Given the description of an element on the screen output the (x, y) to click on. 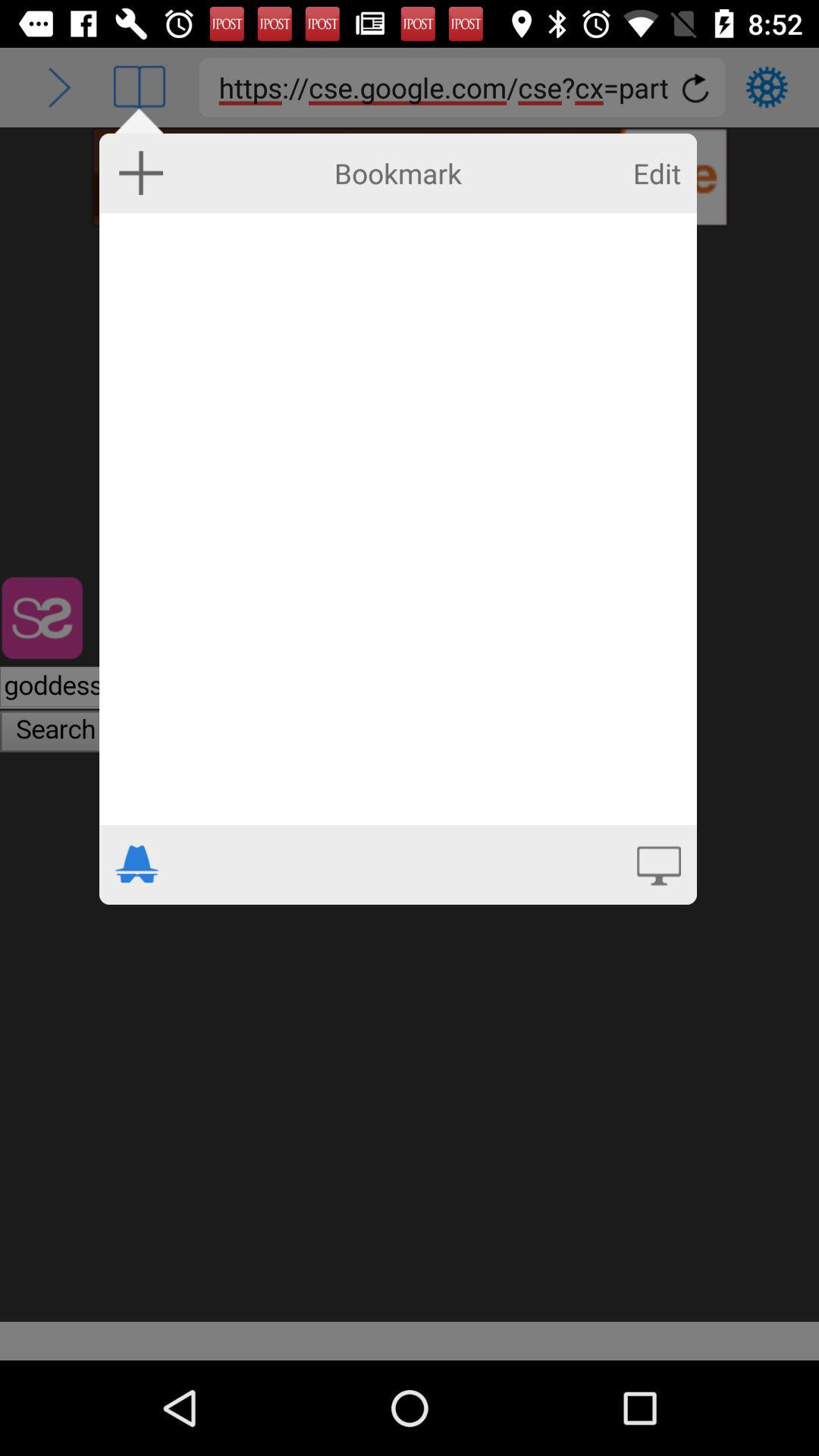
he can activate the simple voice command (658, 864)
